Given the description of an element on the screen output the (x, y) to click on. 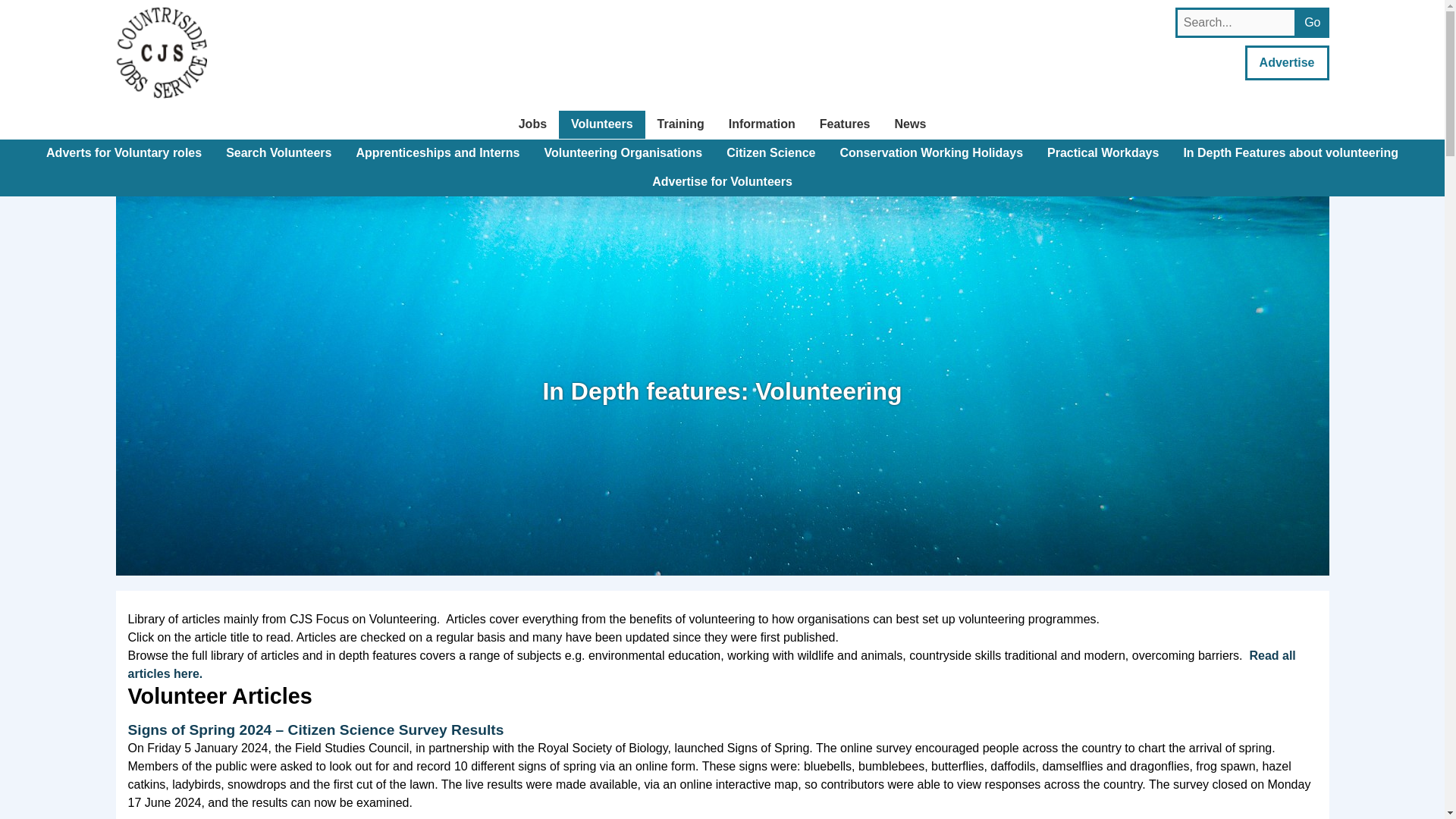
Practical Workdays (1102, 153)
Jobs (532, 124)
Conservation Working Holidays (931, 153)
Features (845, 124)
Apprenticeships and Interns (437, 153)
Citizen Science (770, 153)
Volunteers (602, 124)
Countryside Jobs Service (160, 52)
News (909, 124)
Advertise for Volunteers (722, 182)
